Given the description of an element on the screen output the (x, y) to click on. 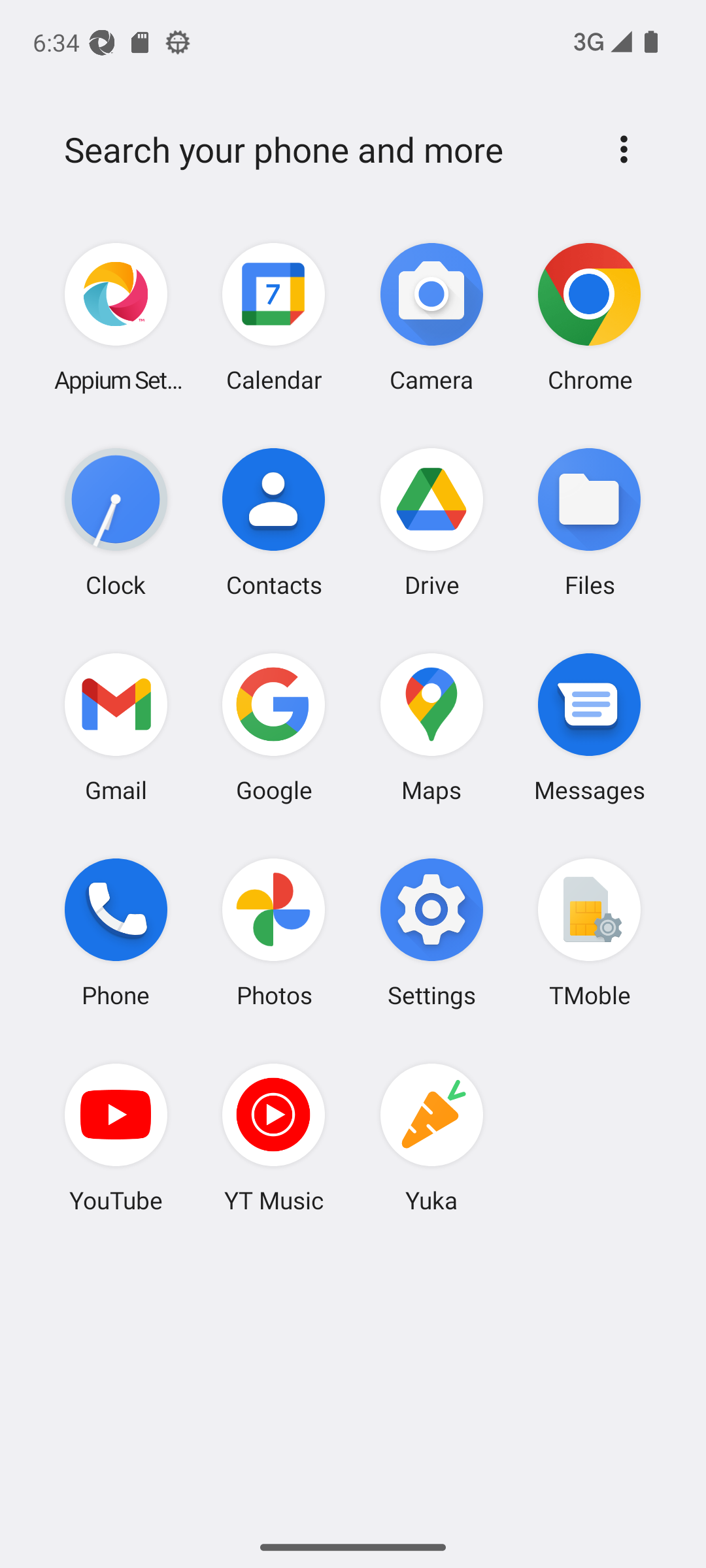
Search your phone and more (321, 149)
Preferences (623, 149)
Appium Settings (115, 317)
Calendar (273, 317)
Camera (431, 317)
Chrome (589, 317)
Clock (115, 522)
Contacts (273, 522)
Drive (431, 522)
Files (589, 522)
Gmail (115, 726)
Google (273, 726)
Maps (431, 726)
Messages (589, 726)
Phone (115, 931)
Photos (273, 931)
Settings (431, 931)
TMoble (589, 931)
YouTube (115, 1137)
YT Music (273, 1137)
Yuka (431, 1137)
